Given the description of an element on the screen output the (x, y) to click on. 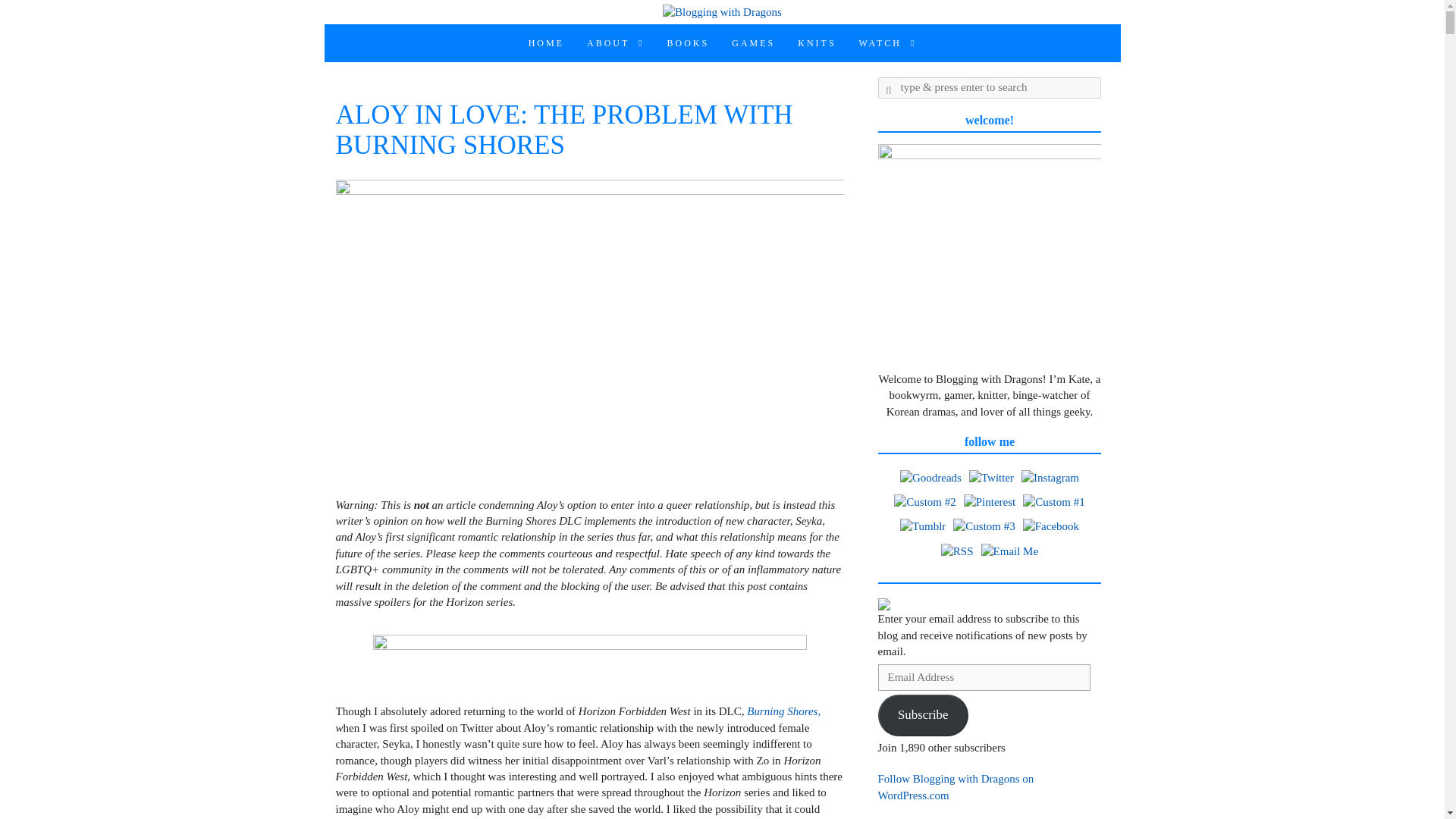
KNITS (816, 43)
ABOUT   (615, 43)
BOOKS (688, 43)
Books (688, 43)
GAMES (753, 43)
HOME (545, 43)
WATCH   (887, 43)
Burning Shores, (782, 711)
